Given the description of an element on the screen output the (x, y) to click on. 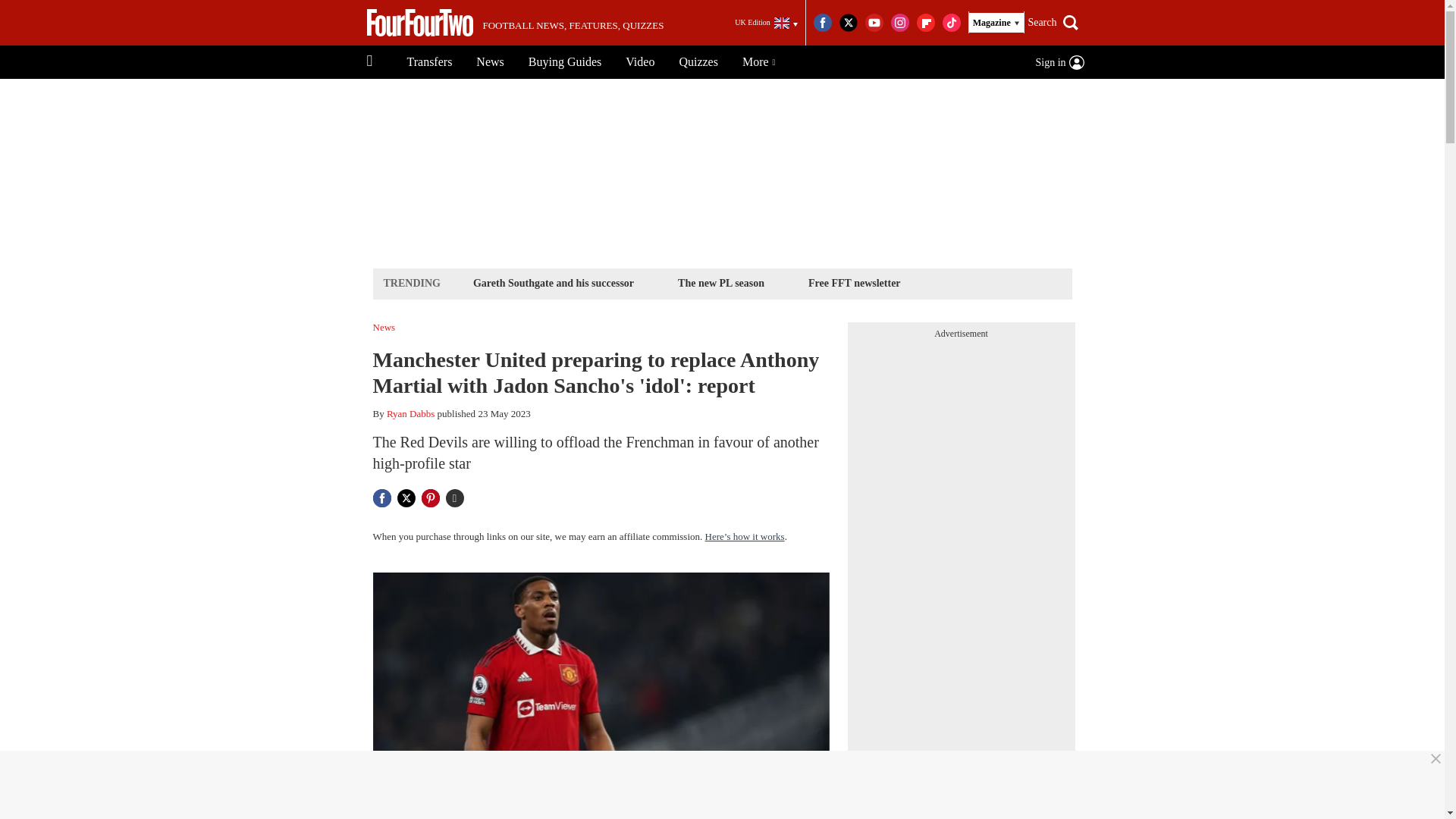
Gareth Southgate and his successor (553, 282)
News (489, 61)
Ryan Dabbs (410, 413)
Quizzes (698, 61)
FOOTBALL NEWS, FEATURES, QUIZZES (514, 22)
Video (639, 61)
Transfers (429, 61)
Free FFT newsletter (854, 282)
The new PL season (721, 282)
Buying Guides (564, 61)
UK Edition (765, 22)
